Given the description of an element on the screen output the (x, y) to click on. 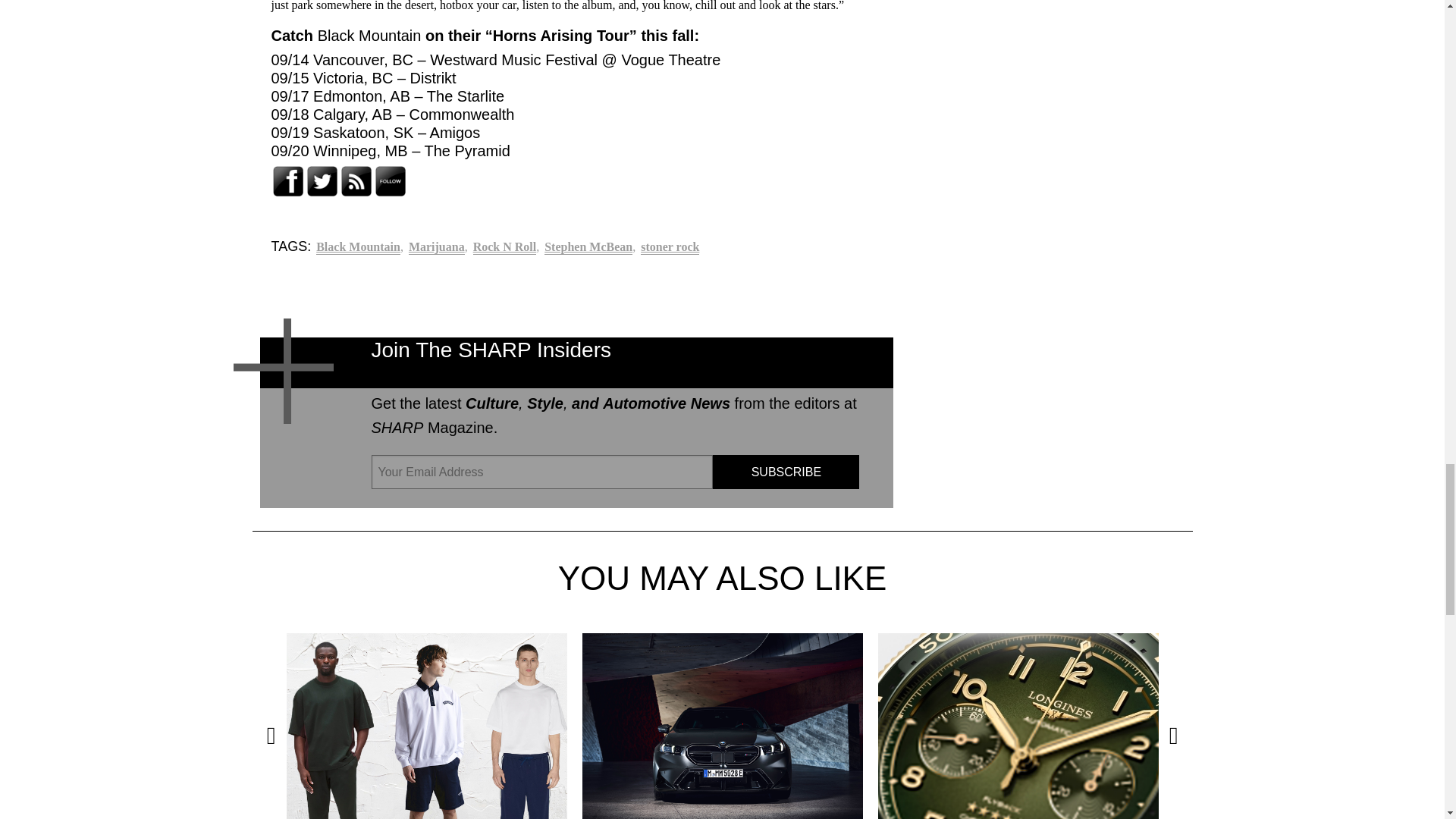
next (1173, 735)
SUBSCRIBE (786, 471)
previous (270, 735)
